Given the description of an element on the screen output the (x, y) to click on. 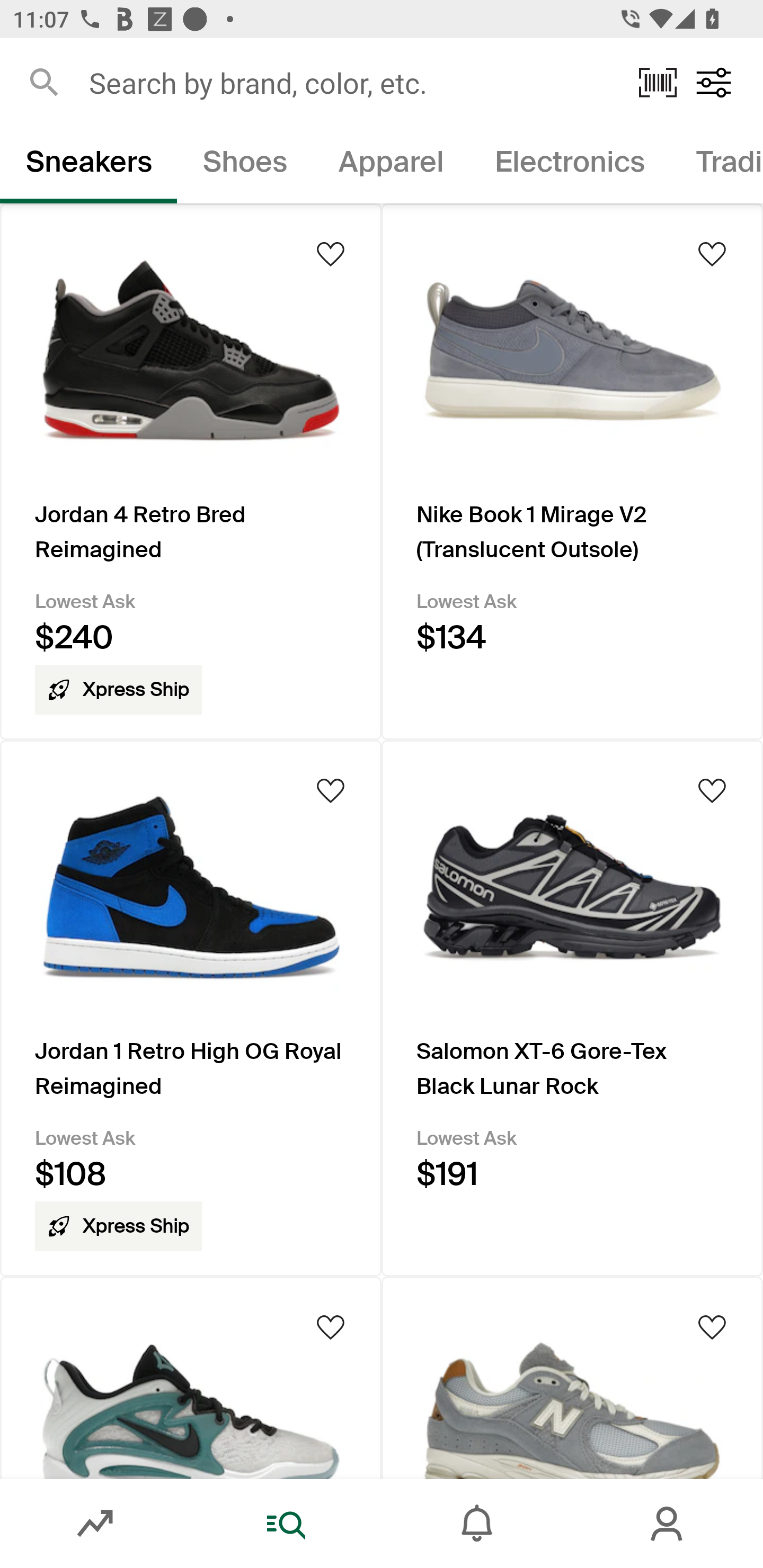
Search by brand, color, etc. (351, 82)
Shoes (244, 165)
Apparel (390, 165)
Electronics (569, 165)
Product Image (190, 1377)
Product Image (572, 1377)
Market (95, 1523)
Inbox (476, 1523)
Account (667, 1523)
